Given the description of an element on the screen output the (x, y) to click on. 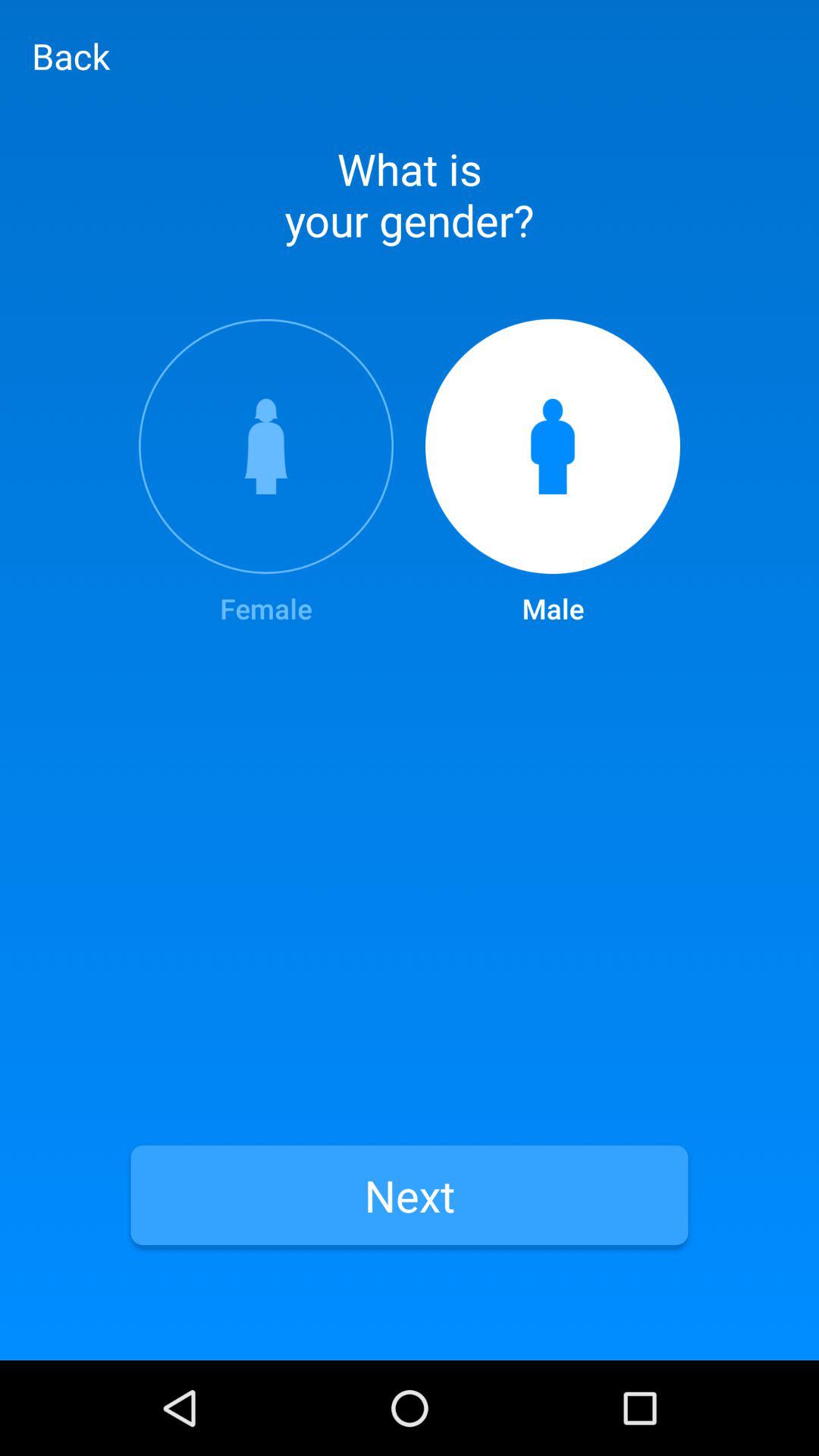
jump until the female (265, 473)
